Given the description of an element on the screen output the (x, y) to click on. 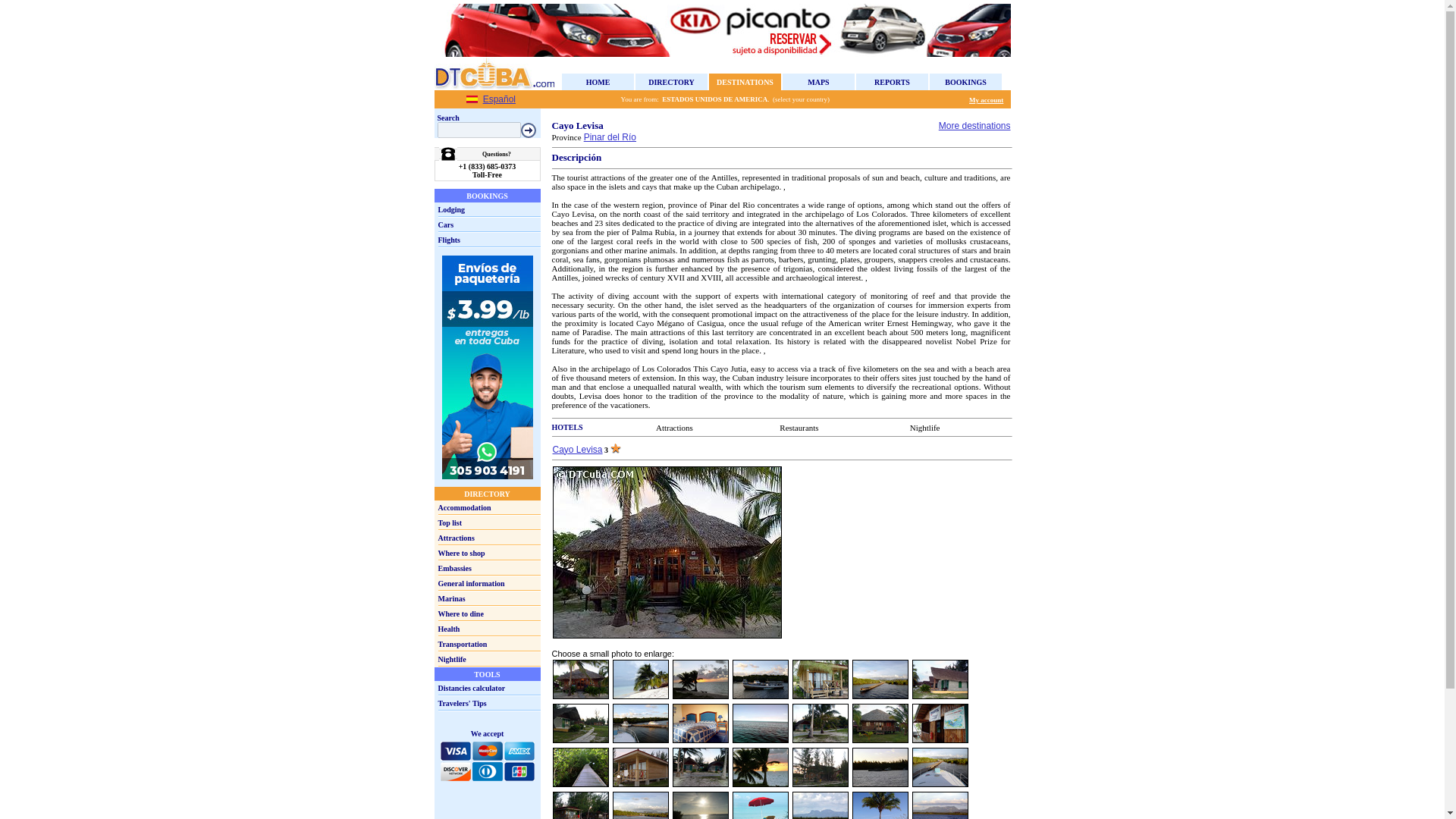
Embassies (454, 568)
Lodging (451, 208)
Marinas (451, 598)
More destinations (974, 125)
Top list (450, 522)
BOOKINGS (964, 80)
Travelers' Tips (462, 703)
Nightlife (925, 427)
Cayo Levisa (576, 449)
Cars (446, 224)
